Given the description of an element on the screen output the (x, y) to click on. 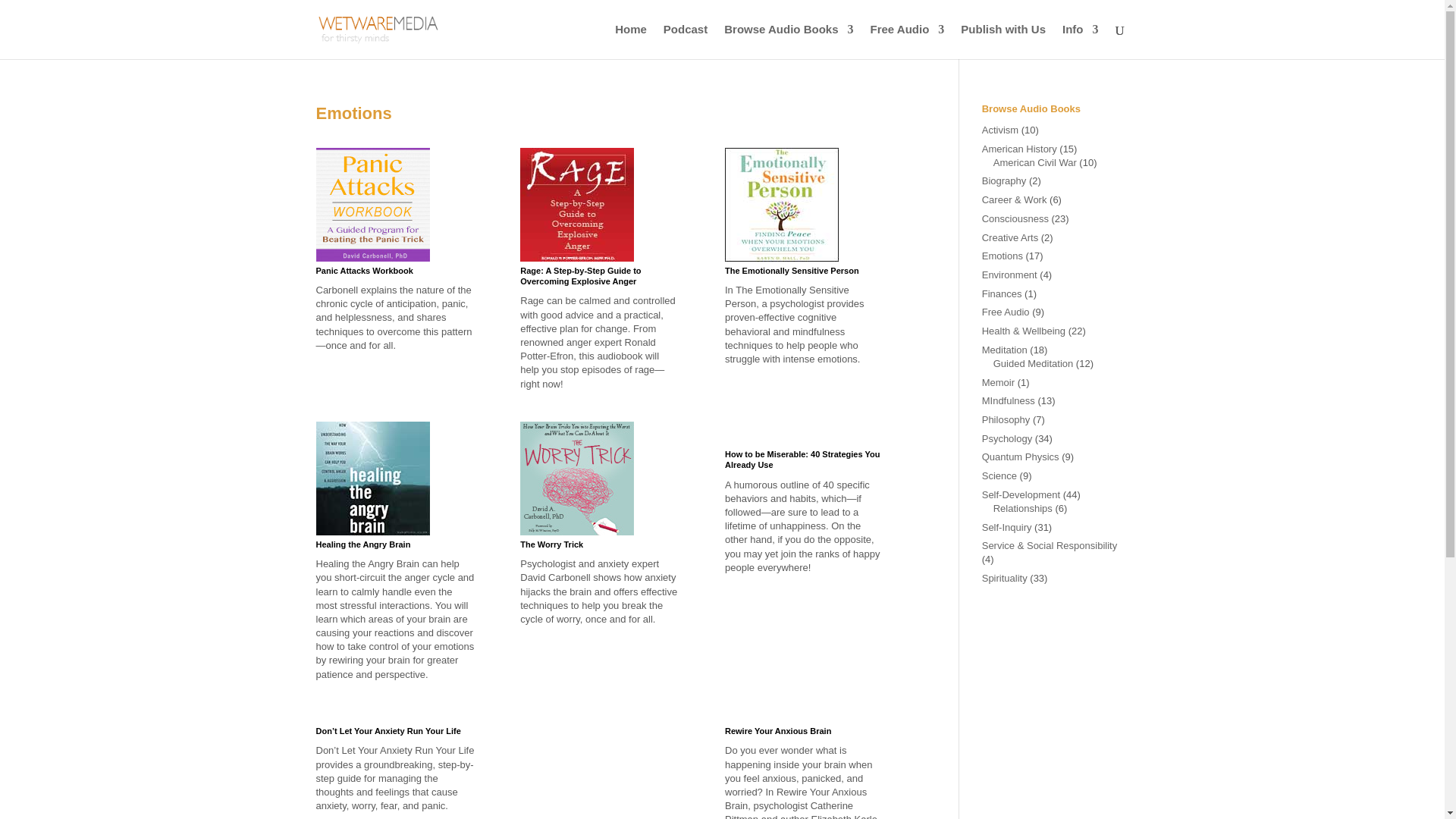
Free Audio (907, 41)
Podcast (685, 41)
Browse Audio Books (788, 41)
Info (1080, 41)
Home (630, 41)
Publish with Us (1002, 41)
